Given the description of an element on the screen output the (x, y) to click on. 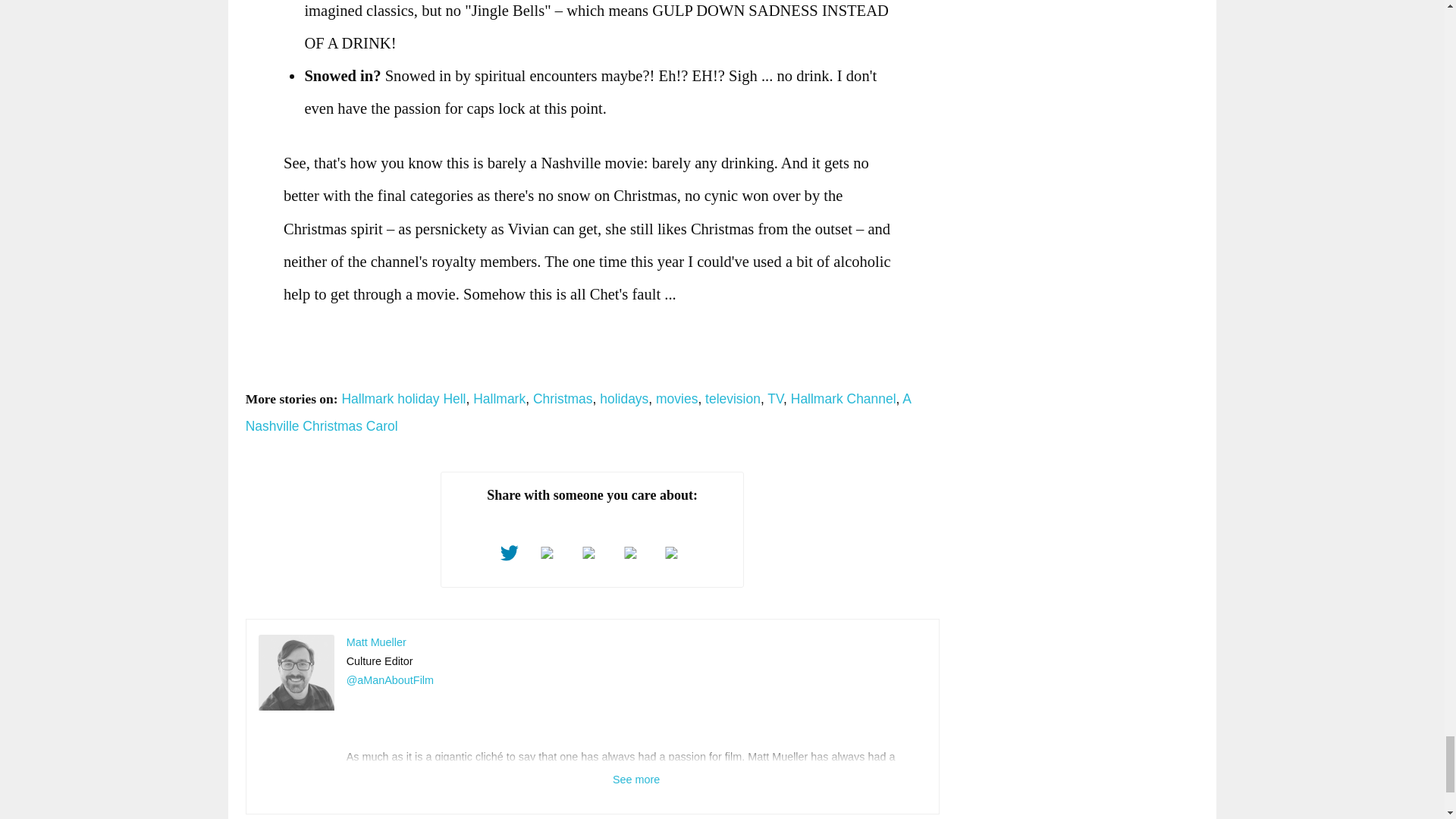
movies (676, 398)
television (732, 398)
Matt Mueller (296, 672)
A Nashville Christmas Carol (578, 412)
Hallmark Channel (843, 398)
